Given the description of an element on the screen output the (x, y) to click on. 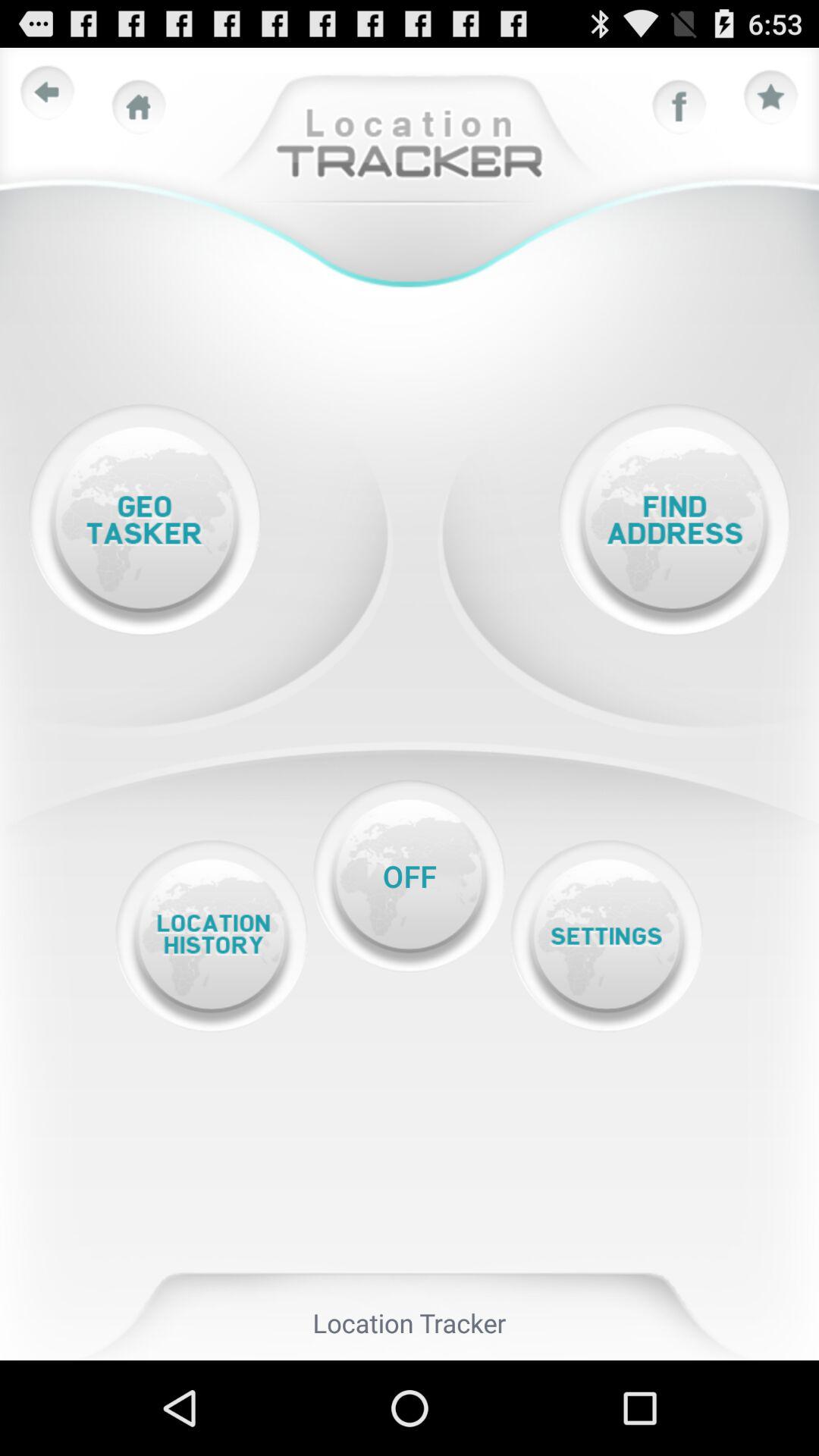
location history (211, 936)
